Given the description of an element on the screen output the (x, y) to click on. 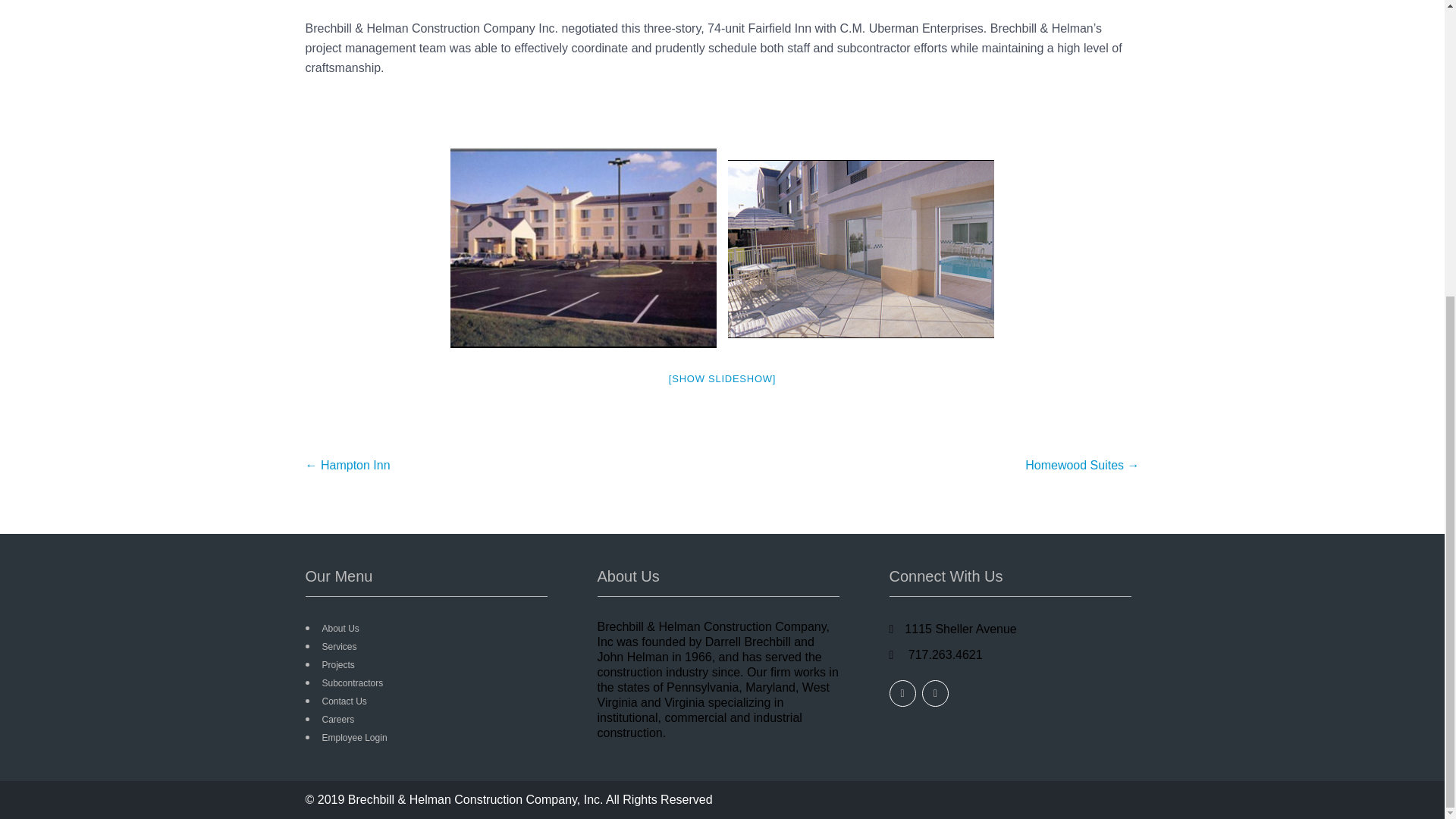
Services (338, 646)
Subcontractors (351, 683)
Employee Login (354, 737)
Contact Us (343, 701)
Fairfield Inn (861, 248)
Projects (337, 665)
linkedin (935, 693)
About Us (339, 628)
facebook (901, 693)
Careers (337, 719)
Fairfield Inn (582, 248)
